Given the description of an element on the screen output the (x, y) to click on. 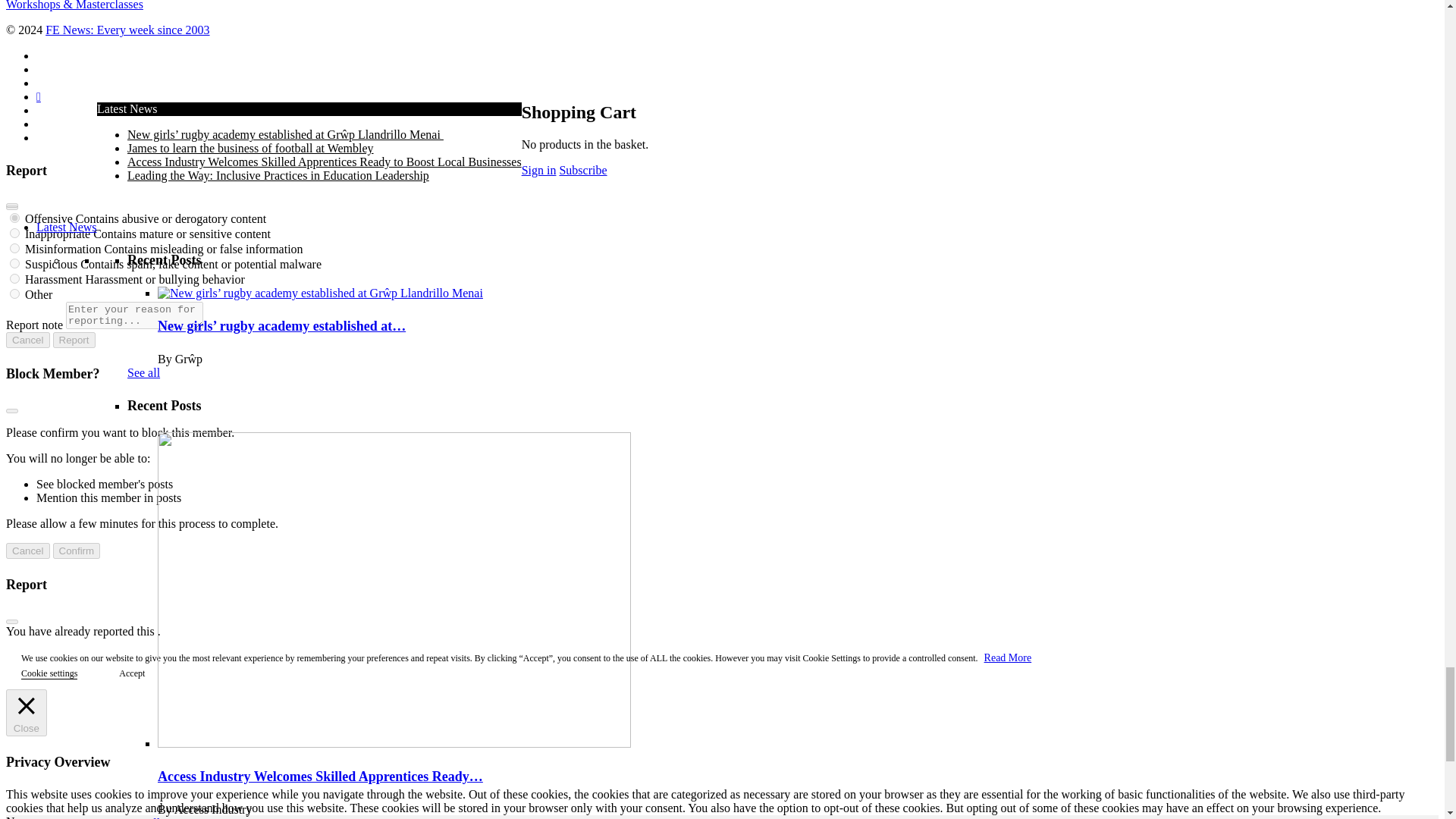
41895 (15, 233)
Cancel (27, 550)
41898 (15, 278)
Cancel (27, 340)
41896 (15, 248)
41897 (15, 263)
41894 (15, 217)
other (15, 293)
